Given the description of an element on the screen output the (x, y) to click on. 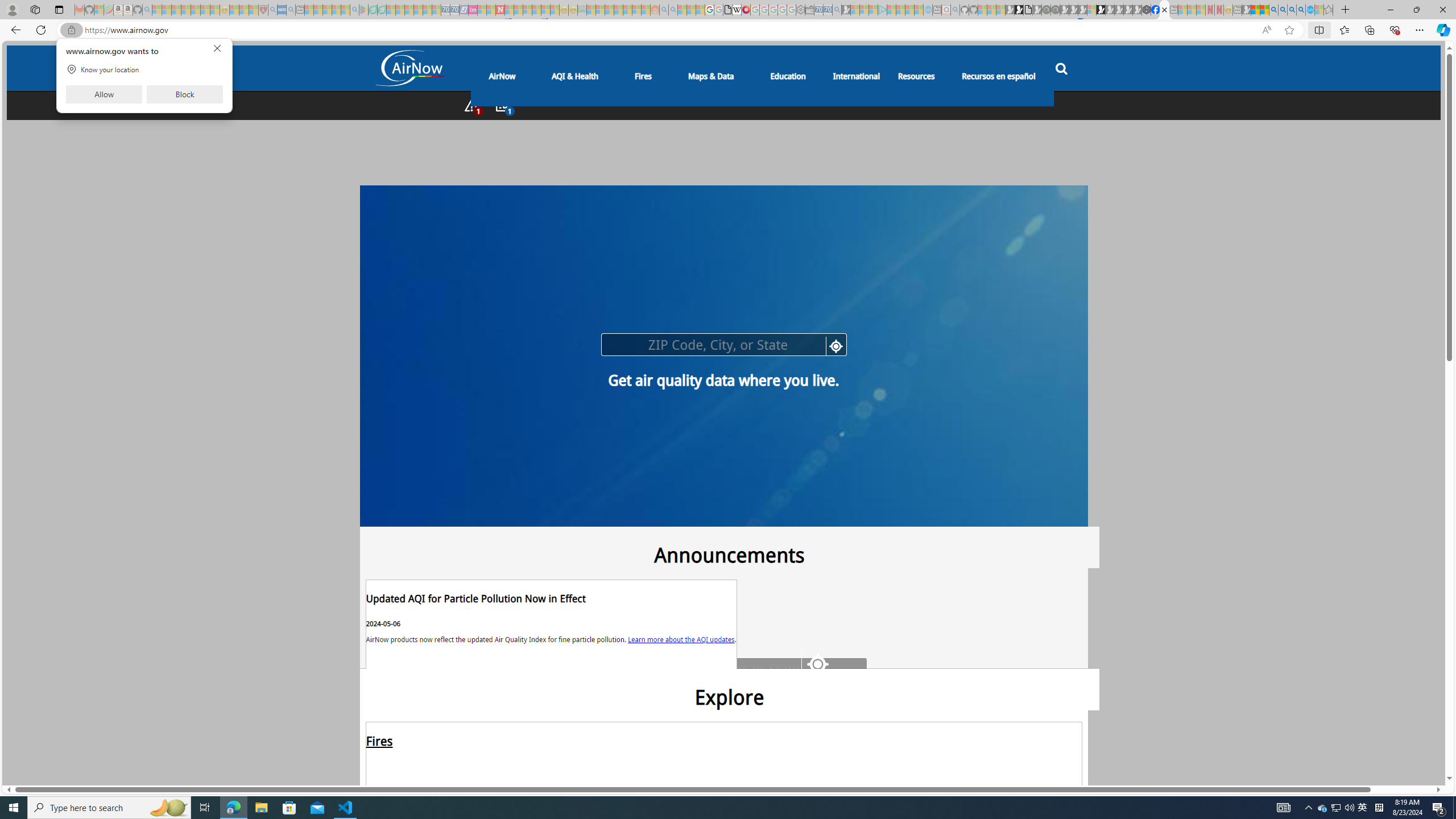
AutomationID: nav-alerts-toggle (471, 105)
Allow (103, 94)
Nordace | Facebook (1154, 9)
Target page - Wikipedia (736, 9)
